Given the description of an element on the screen output the (x, y) to click on. 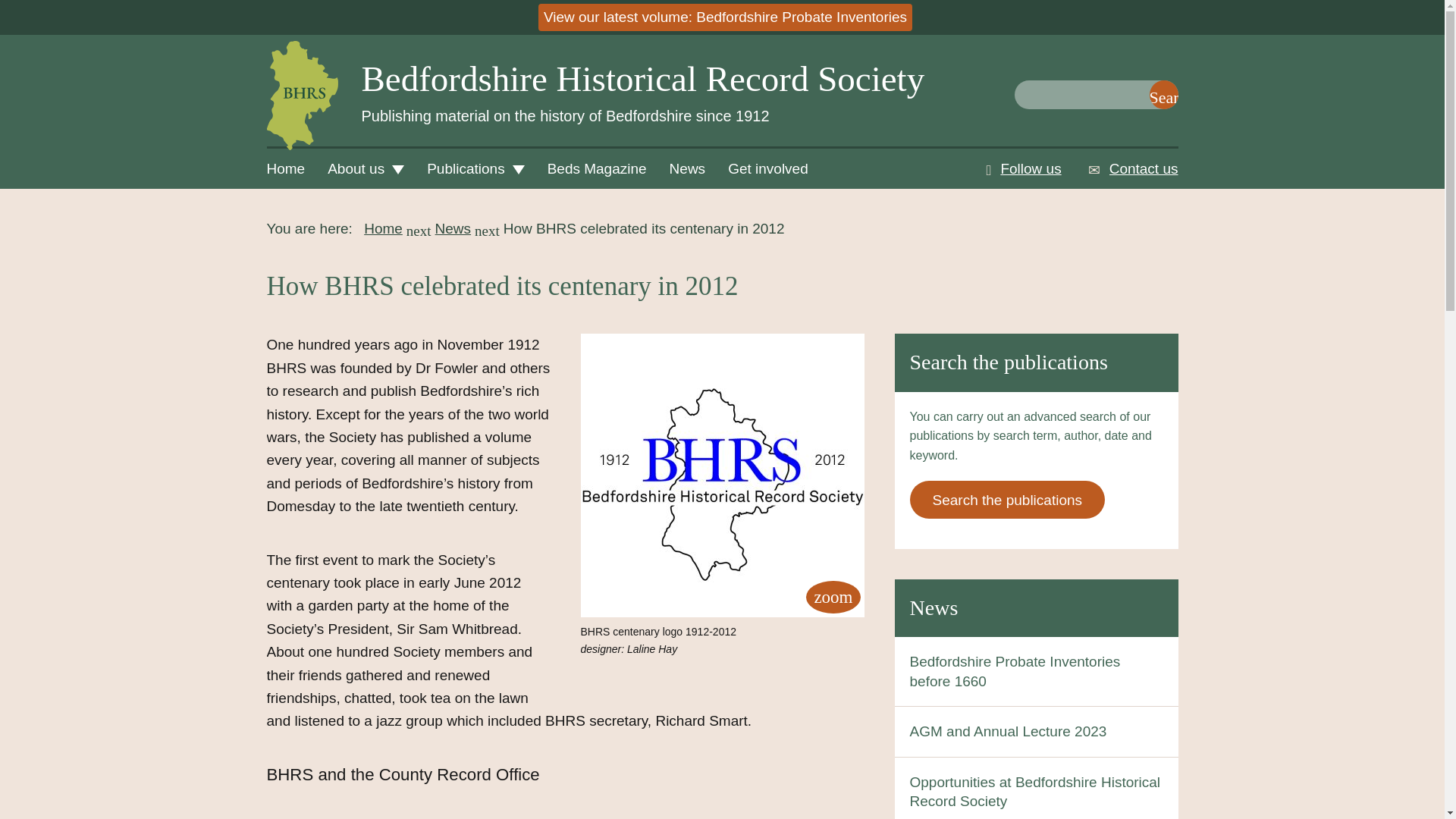
Search the publications (1007, 499)
Follow us (1035, 168)
Centenary logo (722, 475)
zoom (833, 596)
News (934, 607)
Contact us (1143, 168)
News (687, 168)
Search Bedfordshire Historical Record Society (1163, 94)
Search (1163, 94)
View our latest volume: Bedfordshire Probate Inventories (725, 17)
Publications (474, 168)
About us (364, 168)
Search (1163, 94)
Bedfordshire Probate Inventories before 1660 (1015, 671)
Beds Magazine (596, 168)
